Given the description of an element on the screen output the (x, y) to click on. 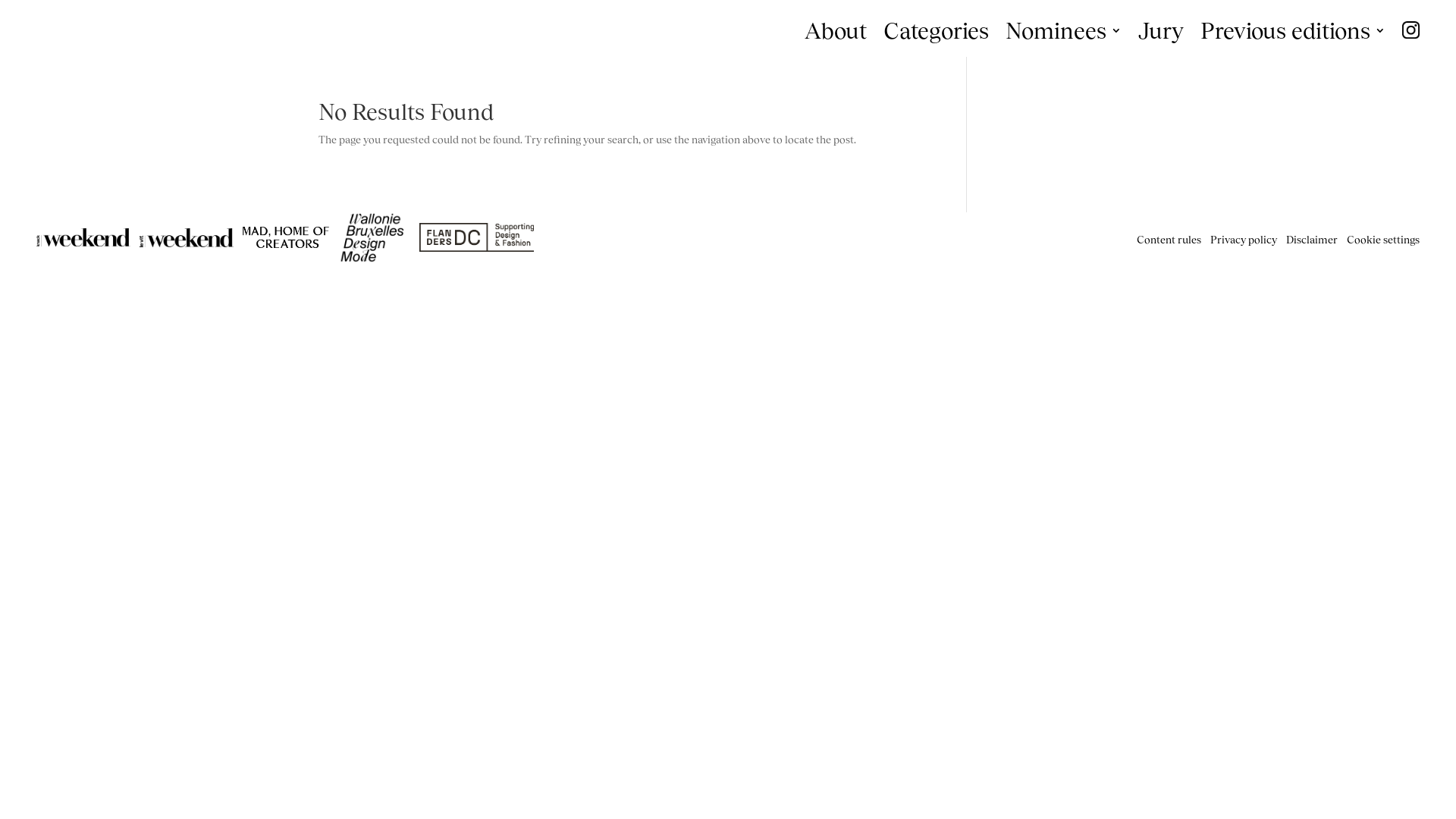
Previous editions Element type: text (1292, 31)
About Element type: text (835, 31)
Disclaimer Element type: text (1311, 239)
Content rules Element type: text (1168, 239)
Nominees Element type: text (1063, 31)
Cookie settings Element type: text (1382, 239)
Jury Element type: text (1160, 31)
WBDMOD Element type: hover (374, 237)
Categories Element type: text (935, 31)
Knack Weekend Element type: hover (83, 237)
FDC Element type: hover (476, 236)
MAD Element type: hover (285, 236)
Le Vif Weekend Element type: hover (186, 237)
Privacy policy Element type: text (1243, 239)
